Given the description of an element on the screen output the (x, y) to click on. 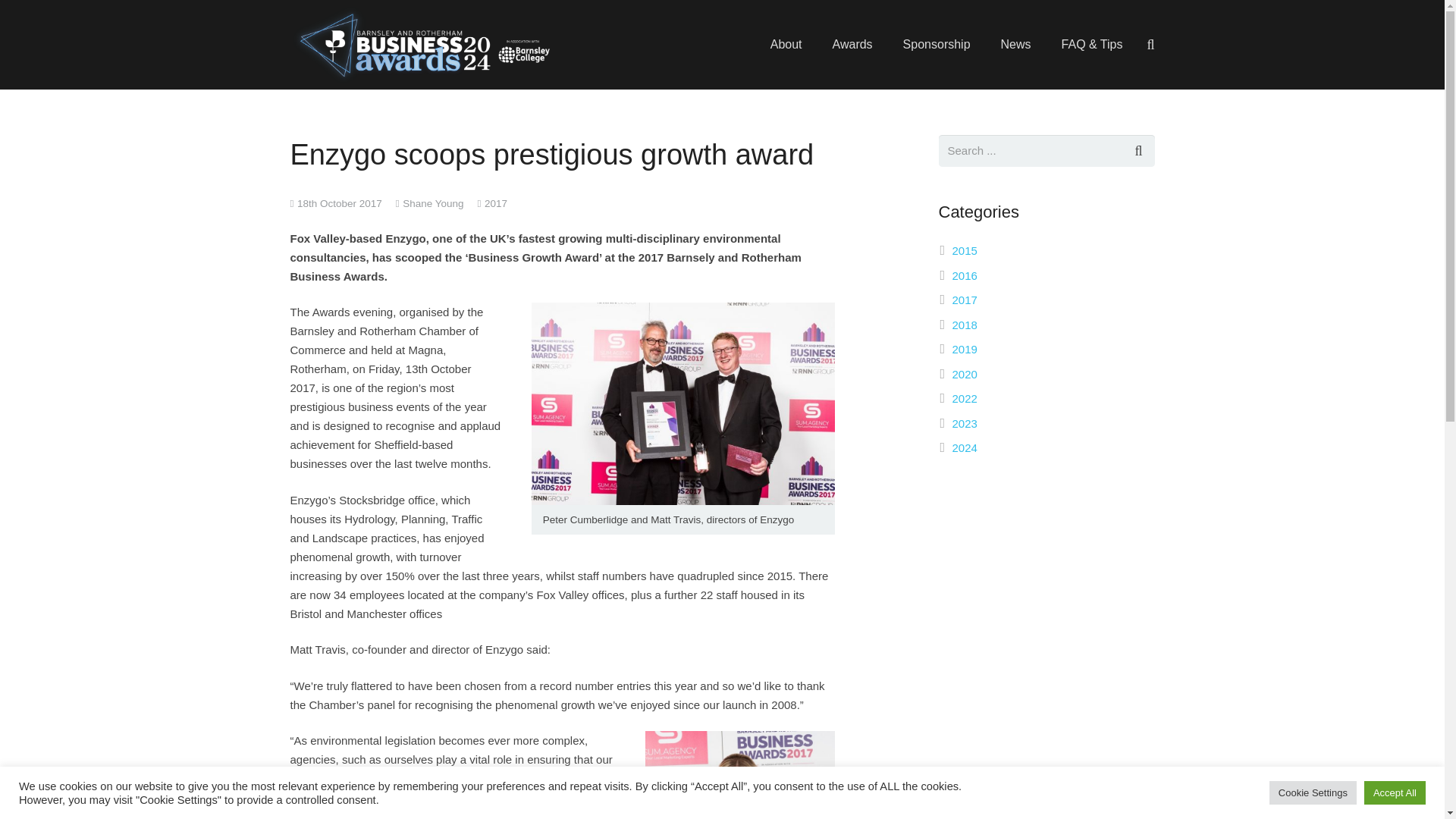
Shane Young (433, 203)
2016 (964, 275)
2015 (964, 250)
2022 (964, 398)
2018 (964, 324)
2017 (964, 299)
FAQ (1092, 44)
2017 (495, 203)
2019 (964, 349)
Sponsorship (936, 44)
